Given the description of an element on the screen output the (x, y) to click on. 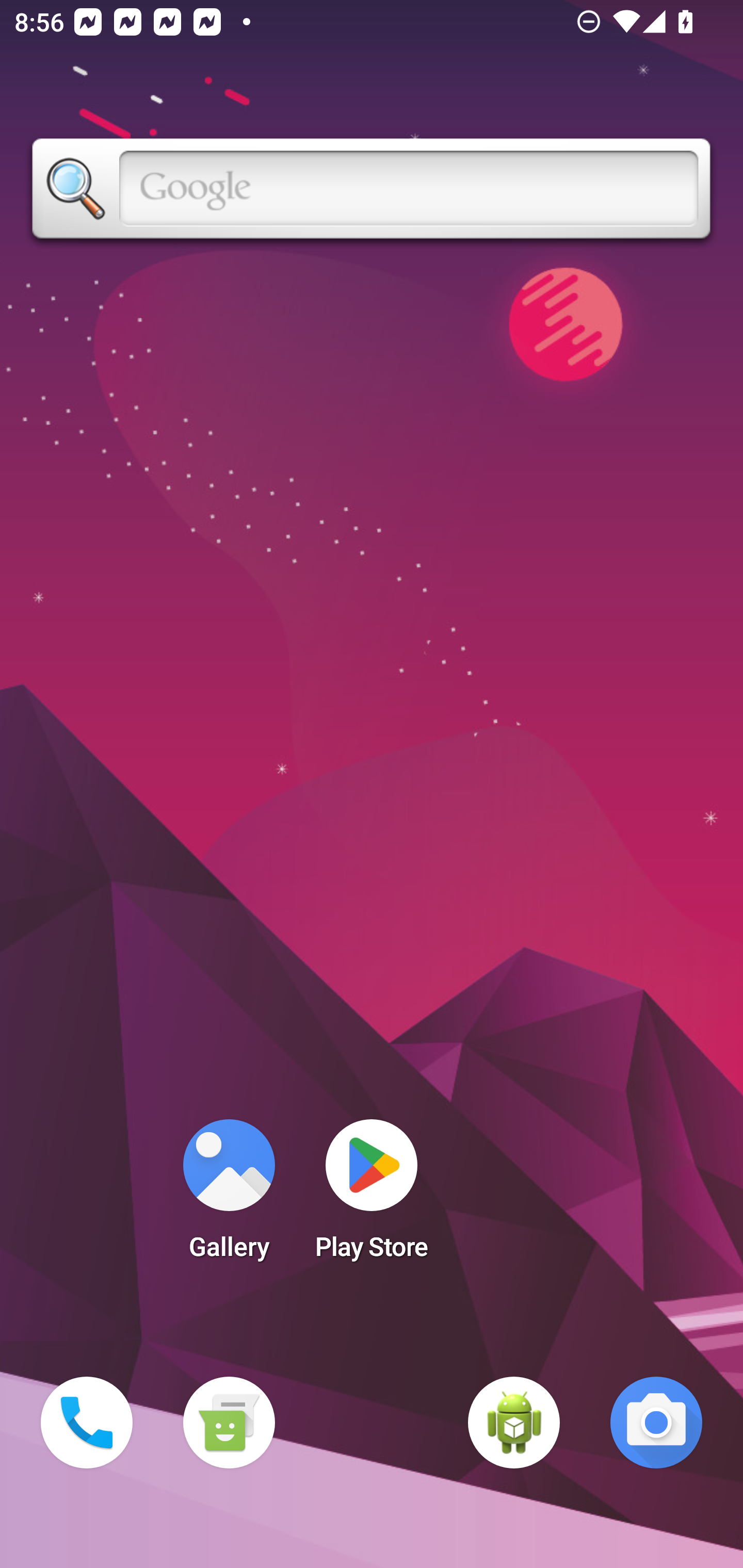
Gallery (228, 1195)
Play Store (371, 1195)
Phone (86, 1422)
Messaging (228, 1422)
WebView Browser Tester (513, 1422)
Camera (656, 1422)
